Given the description of an element on the screen output the (x, y) to click on. 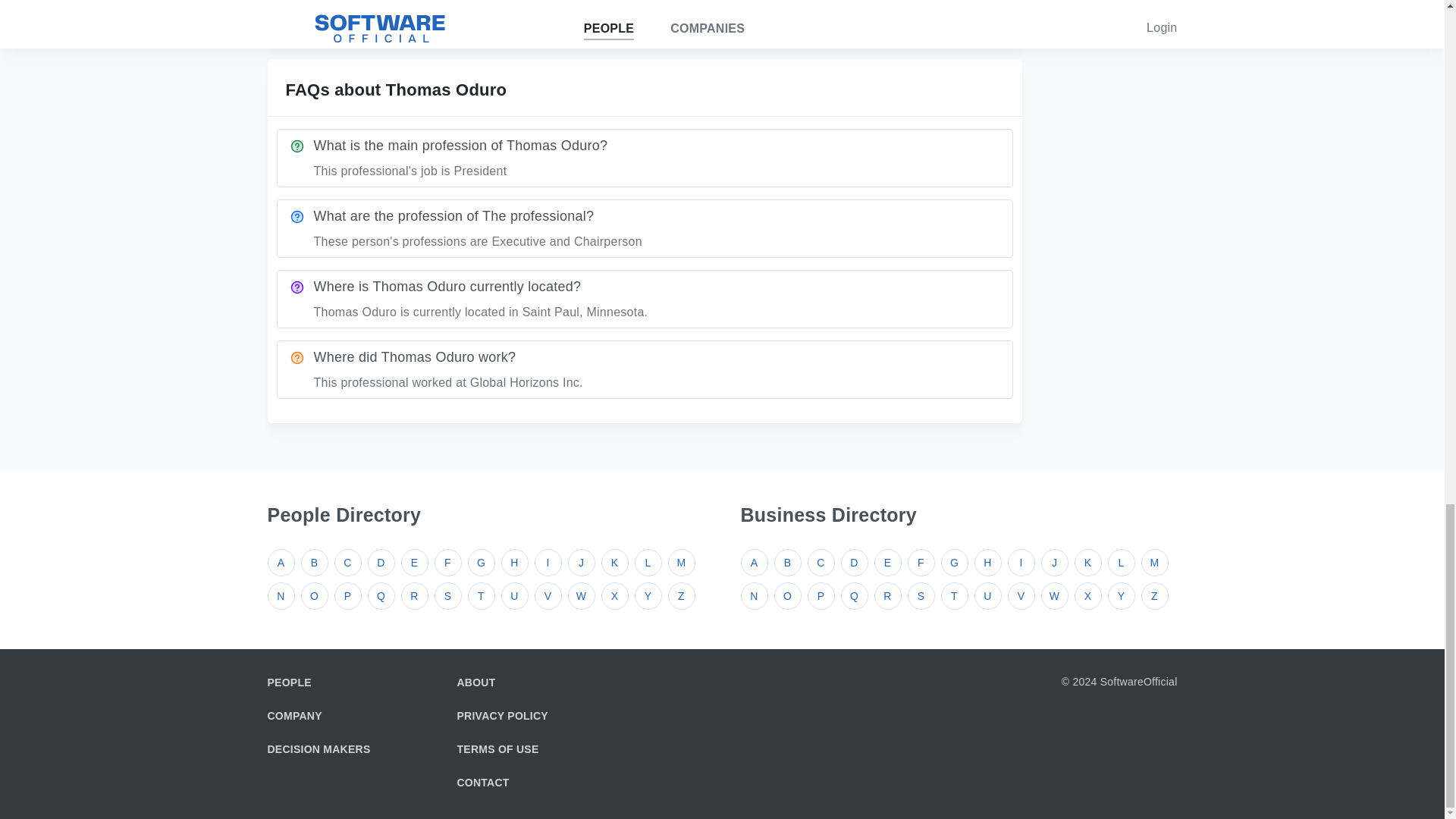
L (647, 562)
G (481, 562)
N (280, 595)
J (580, 562)
K (613, 562)
D (380, 562)
B (313, 562)
I (547, 562)
C (347, 562)
E (414, 562)
F (447, 562)
Q (380, 595)
M (680, 562)
A (280, 562)
O (313, 595)
